Given the description of an element on the screen output the (x, y) to click on. 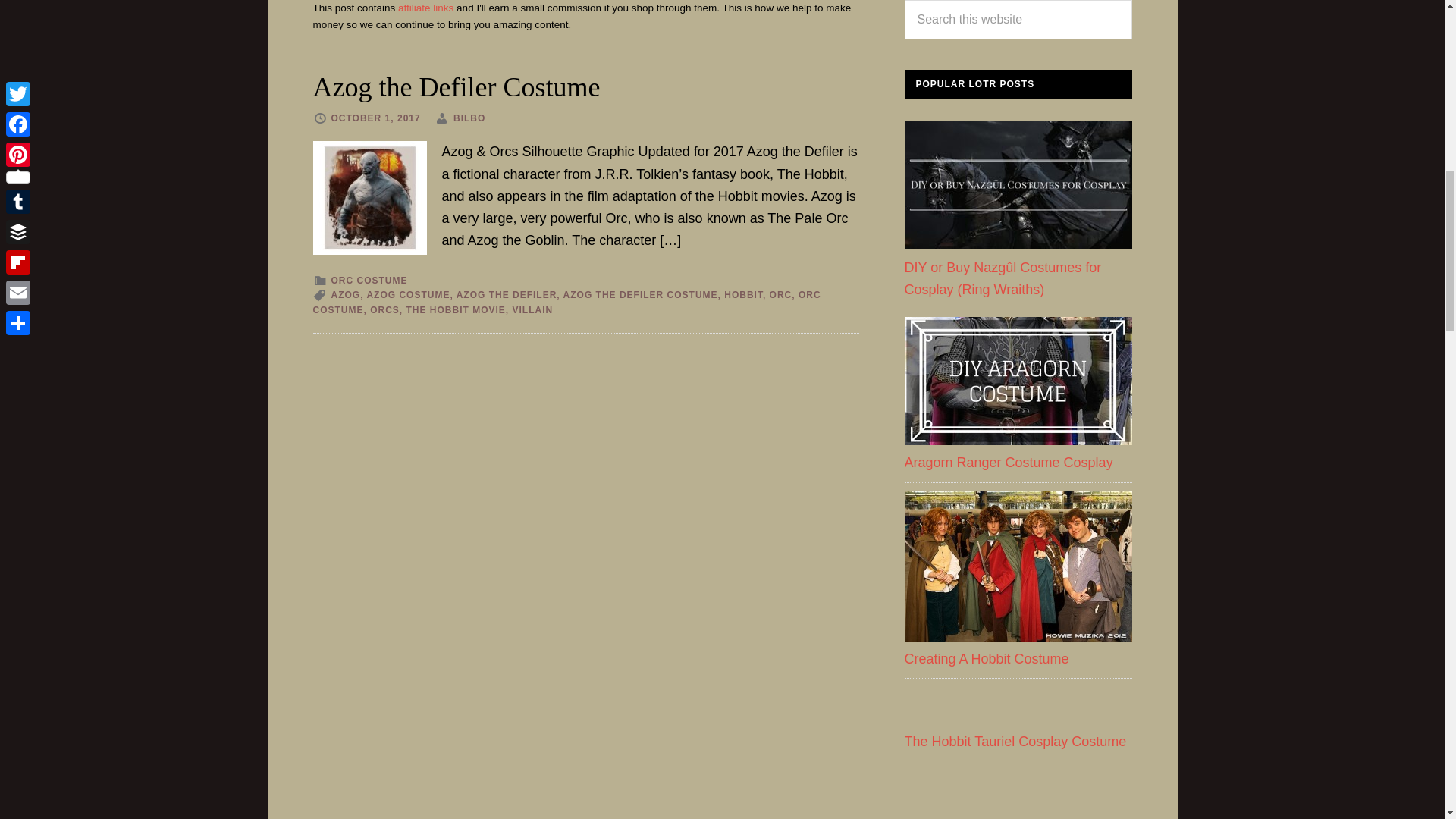
AZOG THE DEFILER (507, 294)
Azog the Defiler Costume (456, 87)
ORC COSTUME (368, 280)
THE HOBBIT MOVIE (455, 309)
affiliate links (424, 7)
VILLAIN (532, 309)
AZOG THE DEFILER COSTUME (640, 294)
AZOG COSTUME (407, 294)
ORCS (383, 309)
AZOG (344, 294)
HOBBIT (742, 294)
The Hobbit Tauriel Cosplay Costume (1014, 741)
BILBO (468, 118)
Creating A Hobbit Costume (986, 658)
Aragorn Ranger Costume Cosplay (1017, 380)
